Given the description of an element on the screen output the (x, y) to click on. 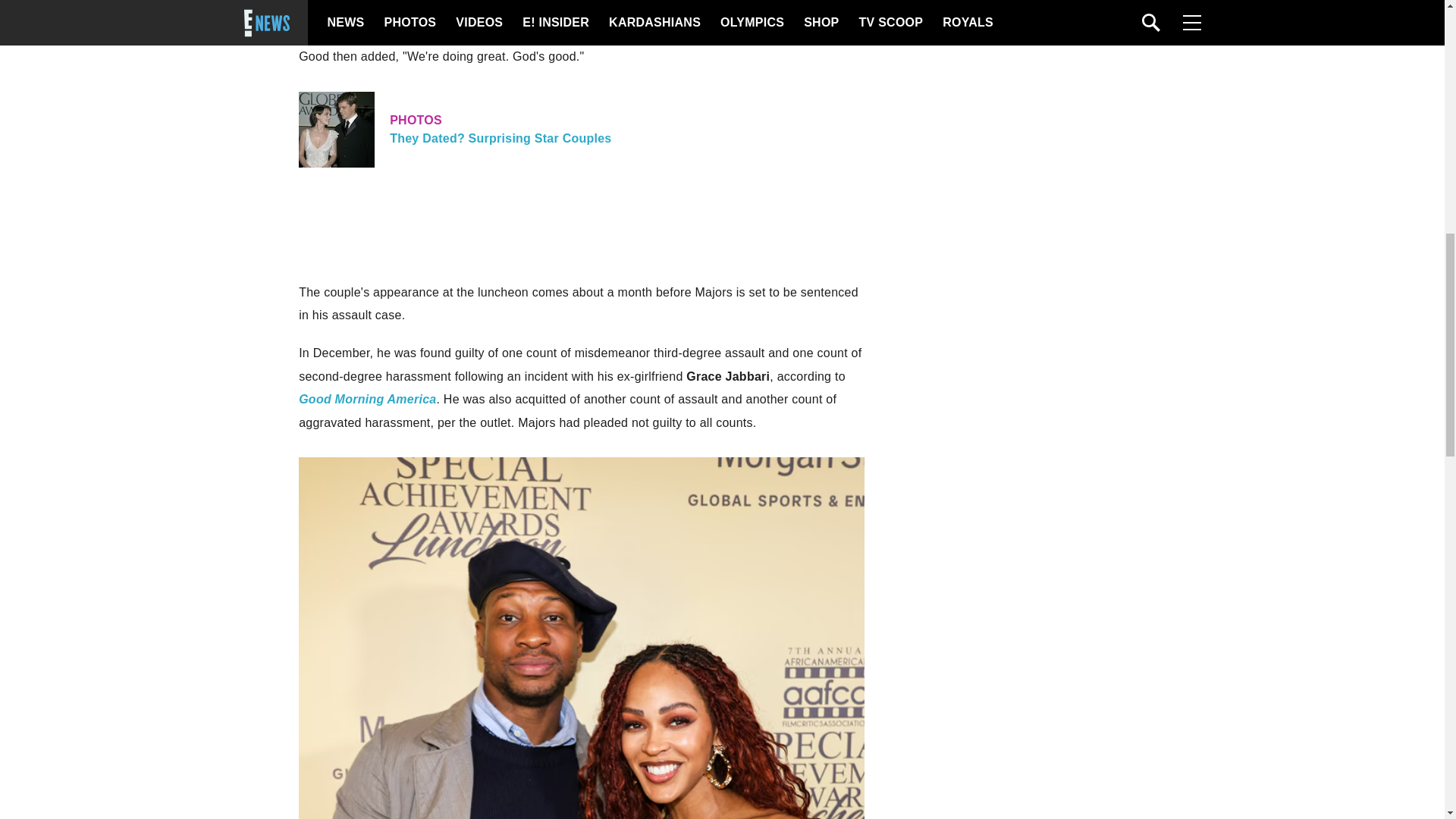
Extra (581, 129)
Good Morning America (314, 18)
